Given the description of an element on the screen output the (x, y) to click on. 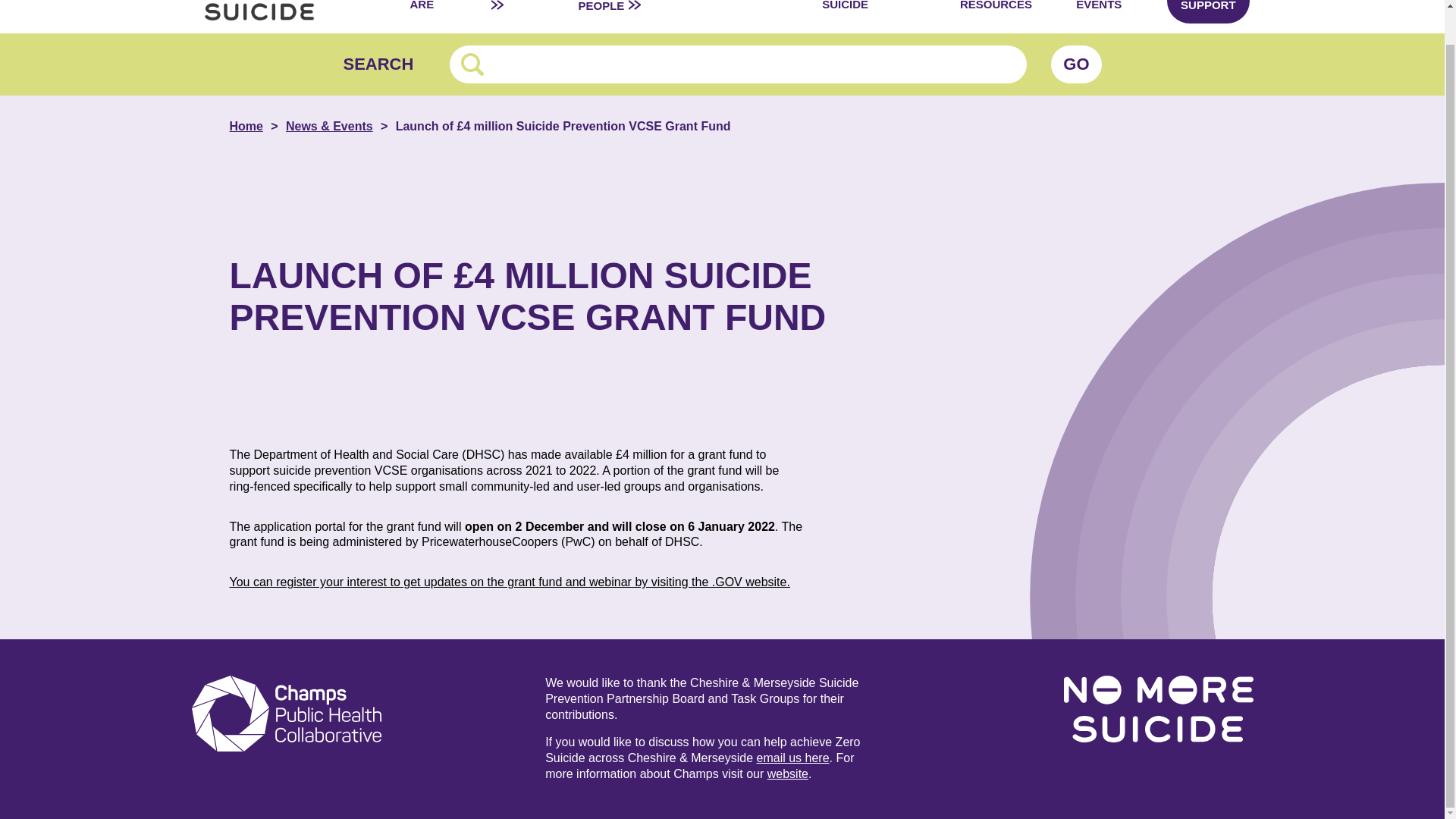
Home (256, 126)
GET SUPPORT (1208, 11)
USEFUL RESOURCES (1011, 16)
LIVED EXPERIENCE NETWORK (571, 12)
website (787, 773)
WHAT WE DO (526, 16)
Go (1075, 64)
SUPPORT AFTER SUICIDE (884, 16)
email us here (793, 757)
WHO WE ARE (441, 16)
